Given the description of an element on the screen output the (x, y) to click on. 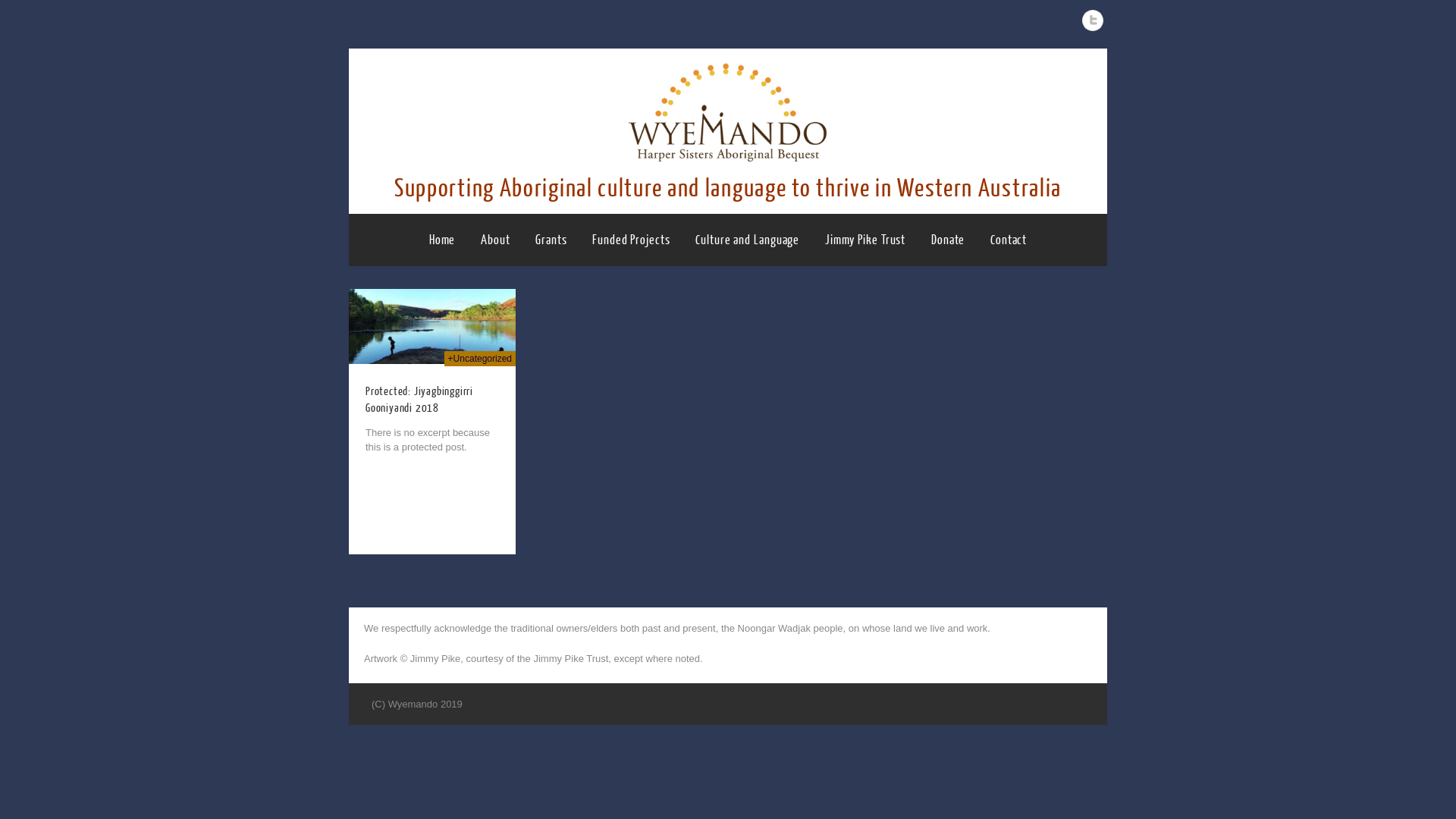
Twitter Element type: text (1092, 20)
Donate Element type: text (947, 239)
Jimmy Pike Trust Element type: text (865, 239)
+Uncategorized Element type: text (479, 358)
Grants Element type: text (550, 239)
Culture and Language Element type: text (747, 239)
Contact Element type: text (1008, 239)
Protected: Jiyagbinggirri Gooniyandi 2018 Element type: text (419, 399)
Funded Projects Element type: text (631, 239)
About Element type: text (495, 239)
Home Element type: text (442, 239)
